Given the description of an element on the screen output the (x, y) to click on. 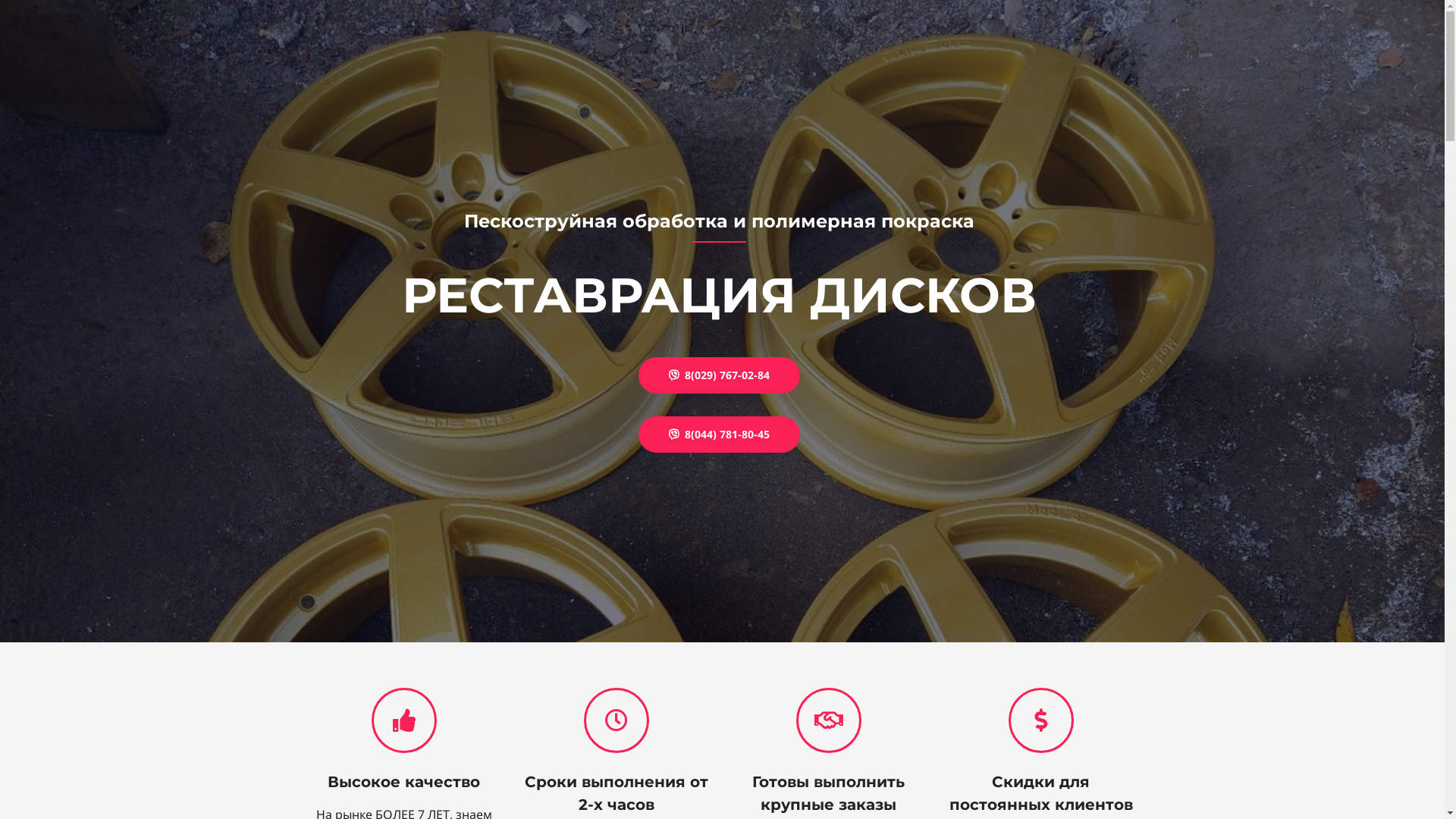
8(044) 781-80-45 Element type: text (719, 434)
8(029) 767-02-84 Element type: text (719, 375)
